Given the description of an element on the screen output the (x, y) to click on. 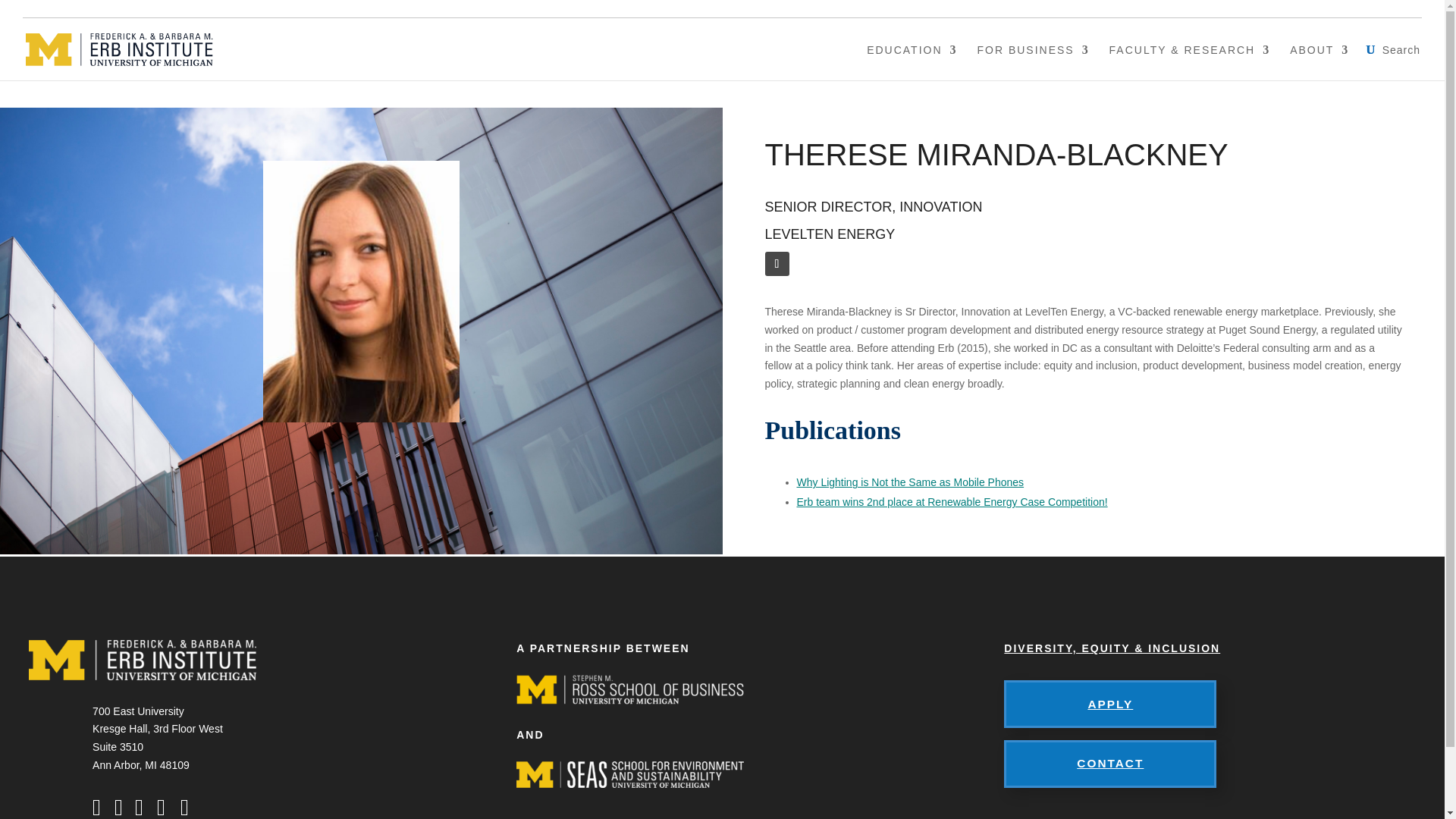
Calendar (1234, 8)
ABOUT (1319, 61)
Links for (1387, 8)
Follow on LinkedIn (776, 263)
EDUCATION (911, 61)
Giving (1306, 8)
FOR BUSINESS (1032, 61)
